Given the description of an element on the screen output the (x, y) to click on. 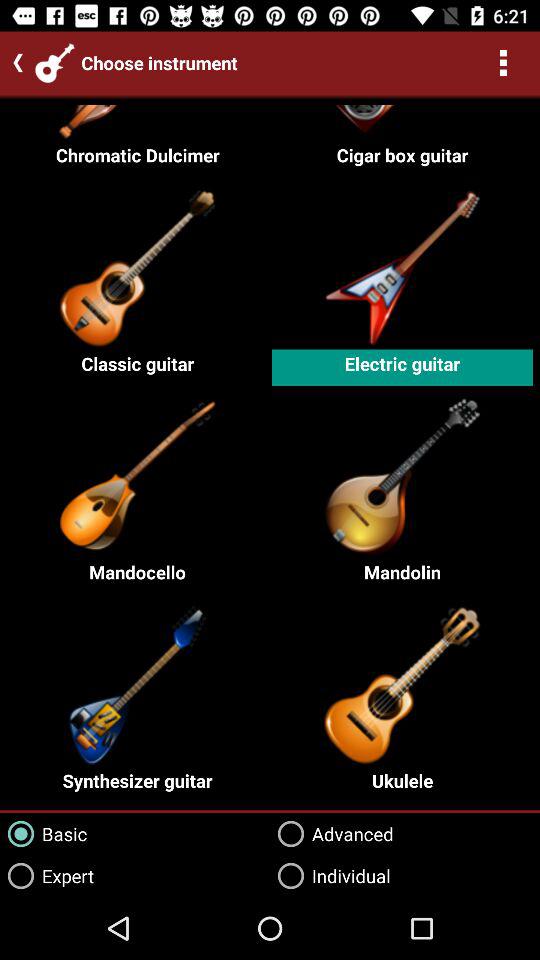
scroll to the basic item (43, 834)
